Given the description of an element on the screen output the (x, y) to click on. 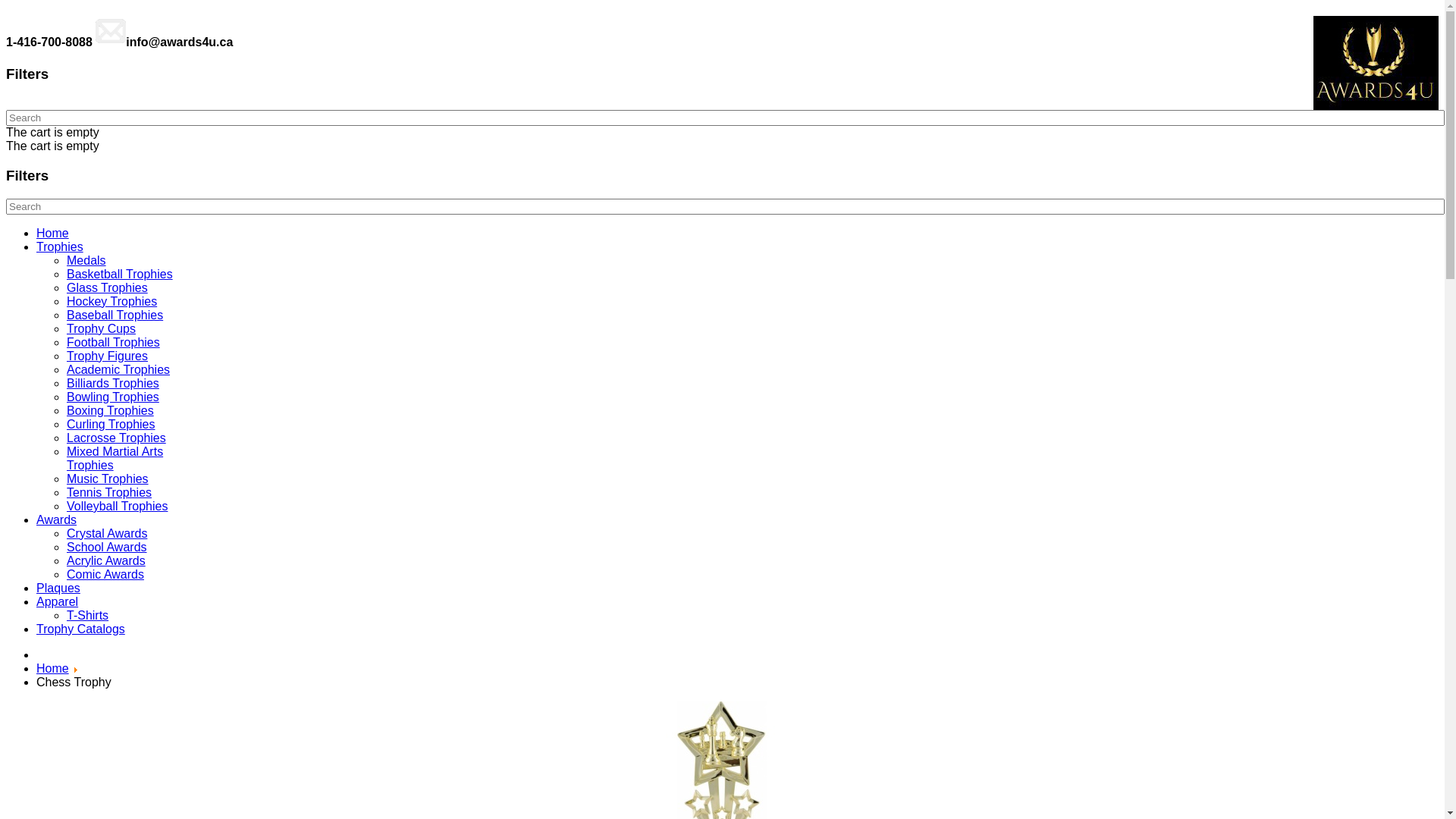
Crystal Awards Element type: text (106, 533)
Bowling Trophies Element type: text (112, 396)
Football Trophies Element type: text (113, 341)
Filters Element type: text (722, 73)
Home Element type: text (52, 232)
Music Trophies Element type: text (107, 478)
Trophy Figures Element type: text (106, 355)
Acrylic Awards Element type: text (105, 560)
Basketball Trophies Element type: text (119, 273)
Trophy Cups Element type: text (100, 328)
Trophies Element type: text (59, 246)
Tennis Trophies Element type: text (108, 492)
Academic Trophies Element type: text (117, 369)
Hockey Trophies Element type: text (111, 300)
Trophy Catalogs Element type: text (80, 628)
T-Shirts Element type: text (87, 614)
Awards Element type: text (56, 519)
Glass Trophies Element type: text (106, 287)
Comic Awards Element type: text (105, 573)
School Awards Element type: text (106, 546)
Apparel Element type: text (57, 601)
Baseball Trophies Element type: text (114, 314)
Medals Element type: text (86, 260)
Lacrosse Trophies Element type: text (116, 437)
Billiards Trophies Element type: text (112, 382)
Mixed Martial Arts Trophies Element type: text (114, 458)
Filters Element type: text (722, 175)
Volleyball Trophies Element type: text (116, 505)
Plaques Element type: text (58, 587)
Curling Trophies Element type: text (110, 423)
Boxing Trophies Element type: text (109, 410)
Home Element type: text (52, 668)
